Given the description of an element on the screen output the (x, y) to click on. 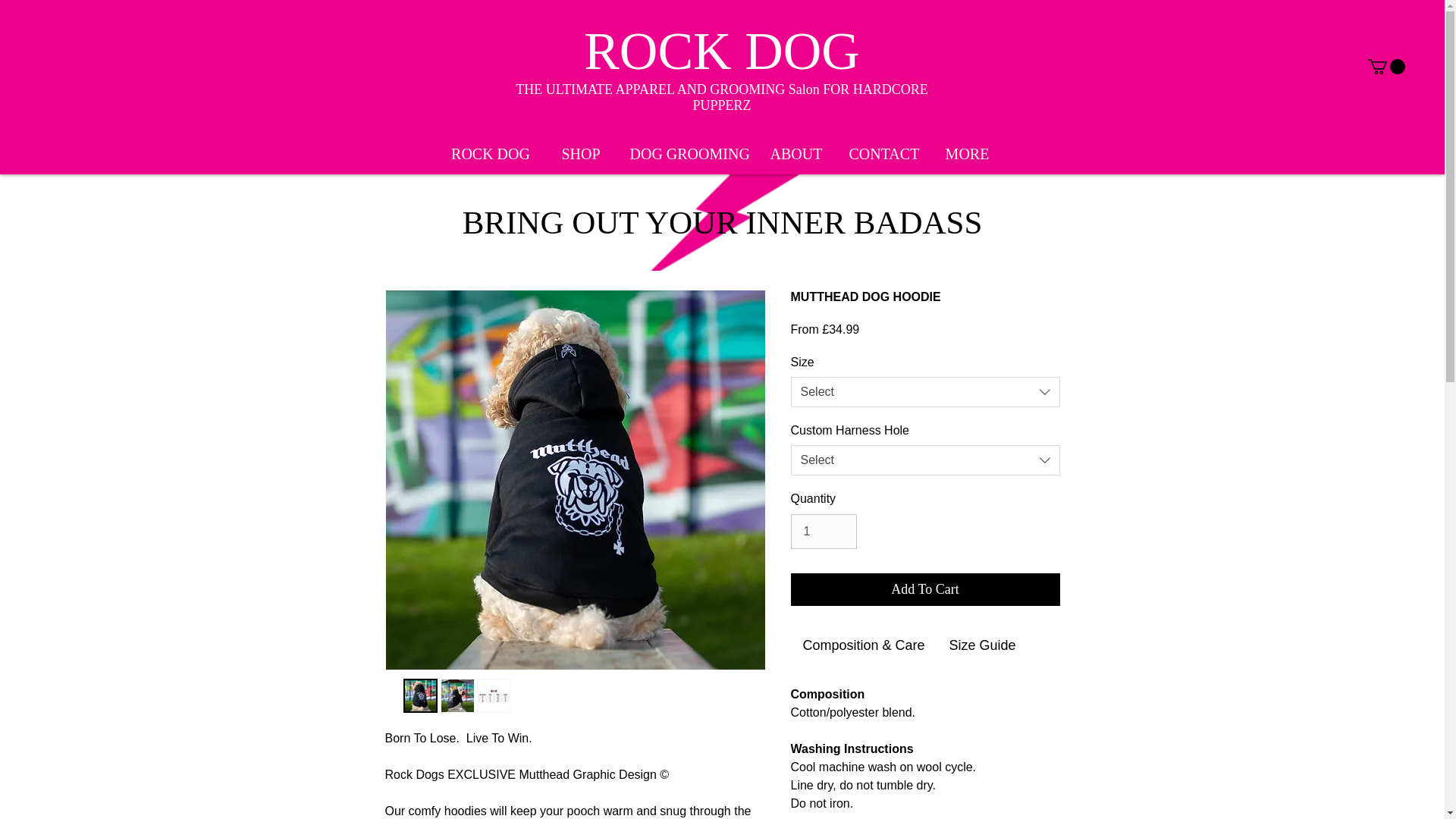
CONTACT (882, 153)
1 (823, 531)
DOG GROOMING (686, 153)
ABOUT (796, 153)
Select (924, 460)
Select (924, 391)
ROCK DOG (721, 50)
Use right and left arrows to navigate between tabs (863, 645)
ROCK DOG (490, 153)
Add To Cart (924, 589)
Use right and left arrows to navigate between tabs (982, 645)
SHOP (580, 153)
